Given the description of an element on the screen output the (x, y) to click on. 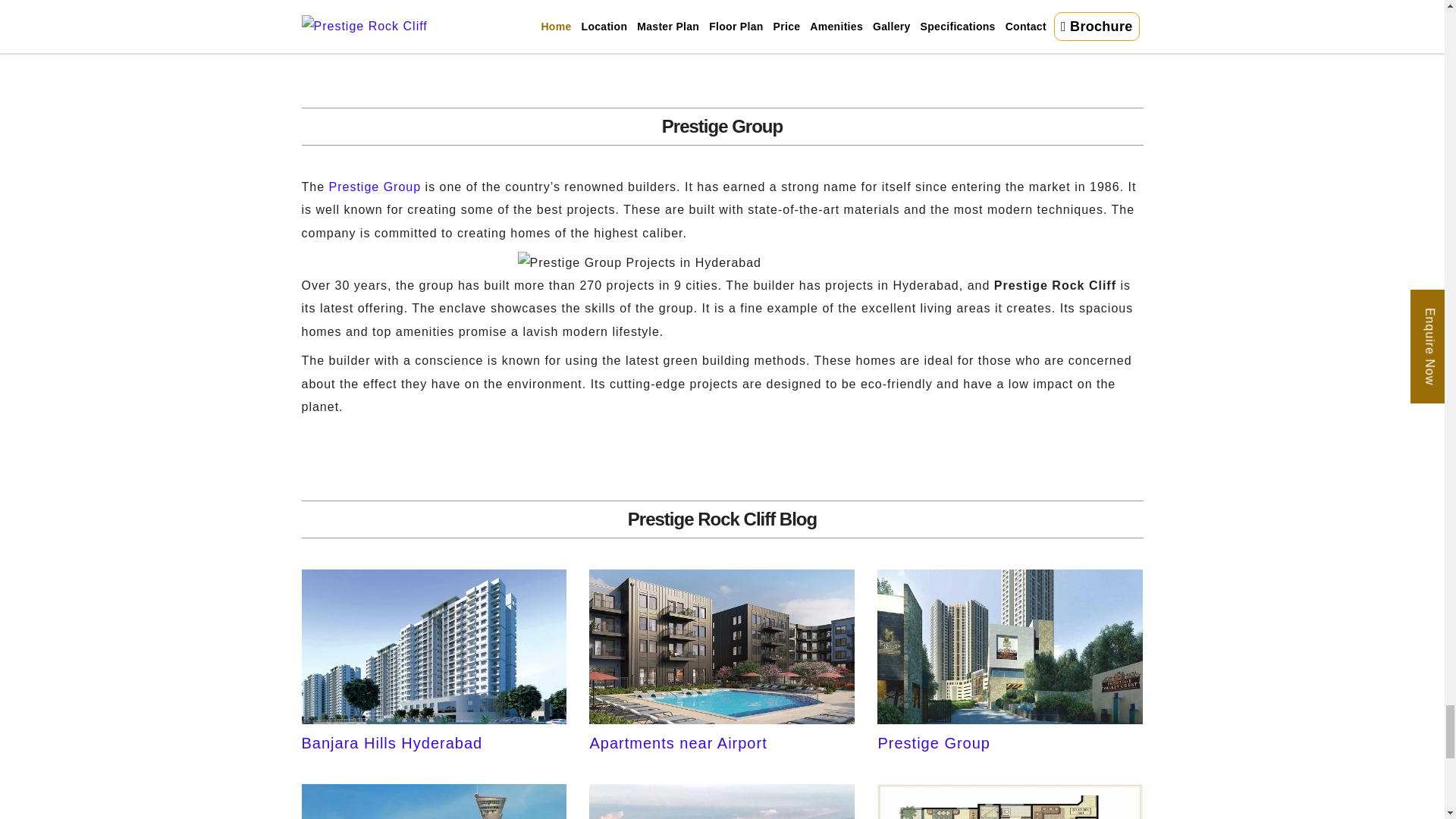
Apartments near Airport (721, 695)
Prestige Group (1009, 695)
Banjara Hills Hyderabad (434, 695)
Prestige Group (375, 186)
